Given the description of an element on the screen output the (x, y) to click on. 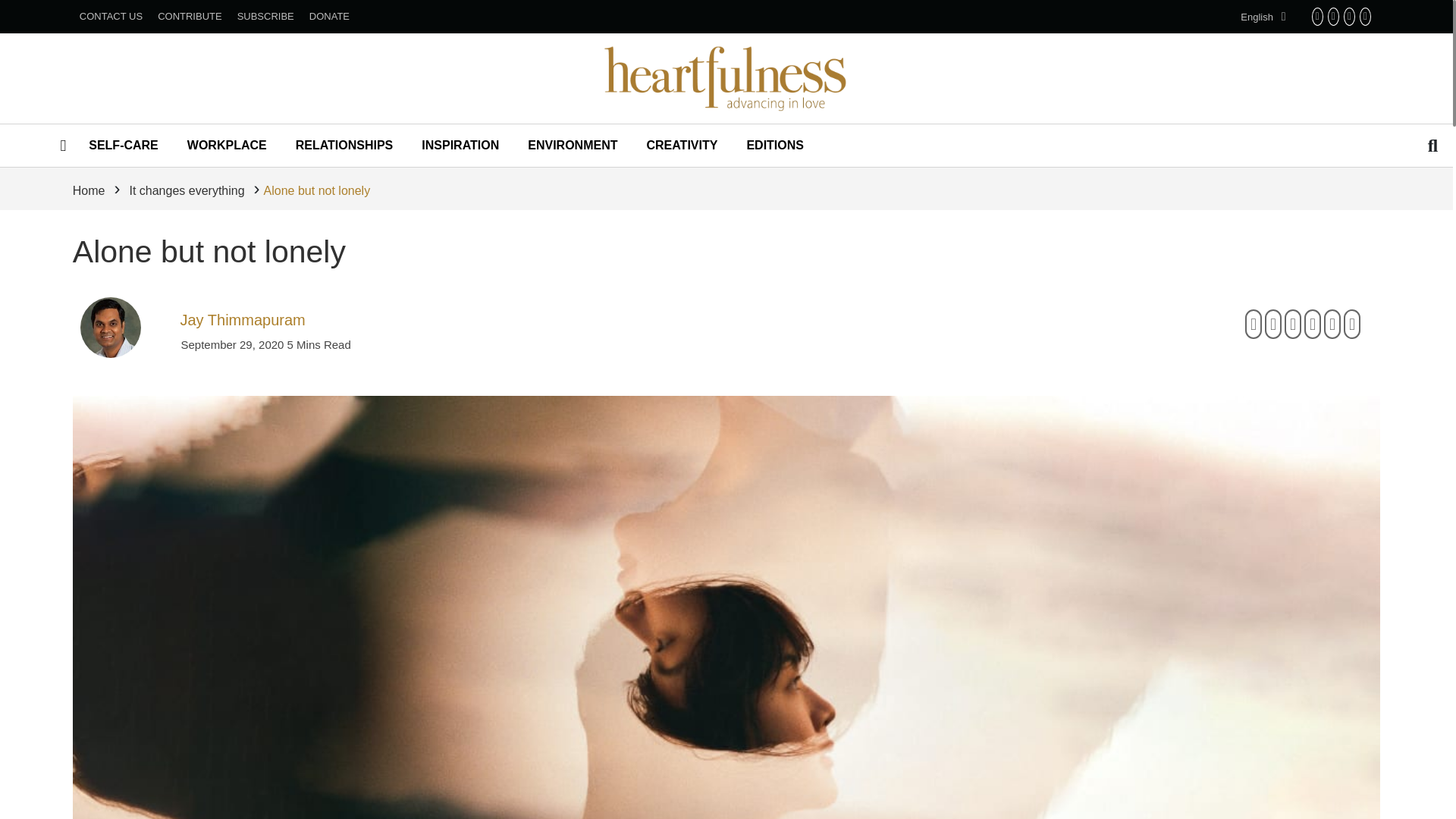
ENVIRONMENT (572, 144)
RELATIONSHIPS (343, 144)
WORKPLACE (226, 144)
SELF-CARE (123, 144)
Alone but not lonely (209, 251)
English    (1259, 17)
INSPIRATION (459, 144)
